Given the description of an element on the screen output the (x, y) to click on. 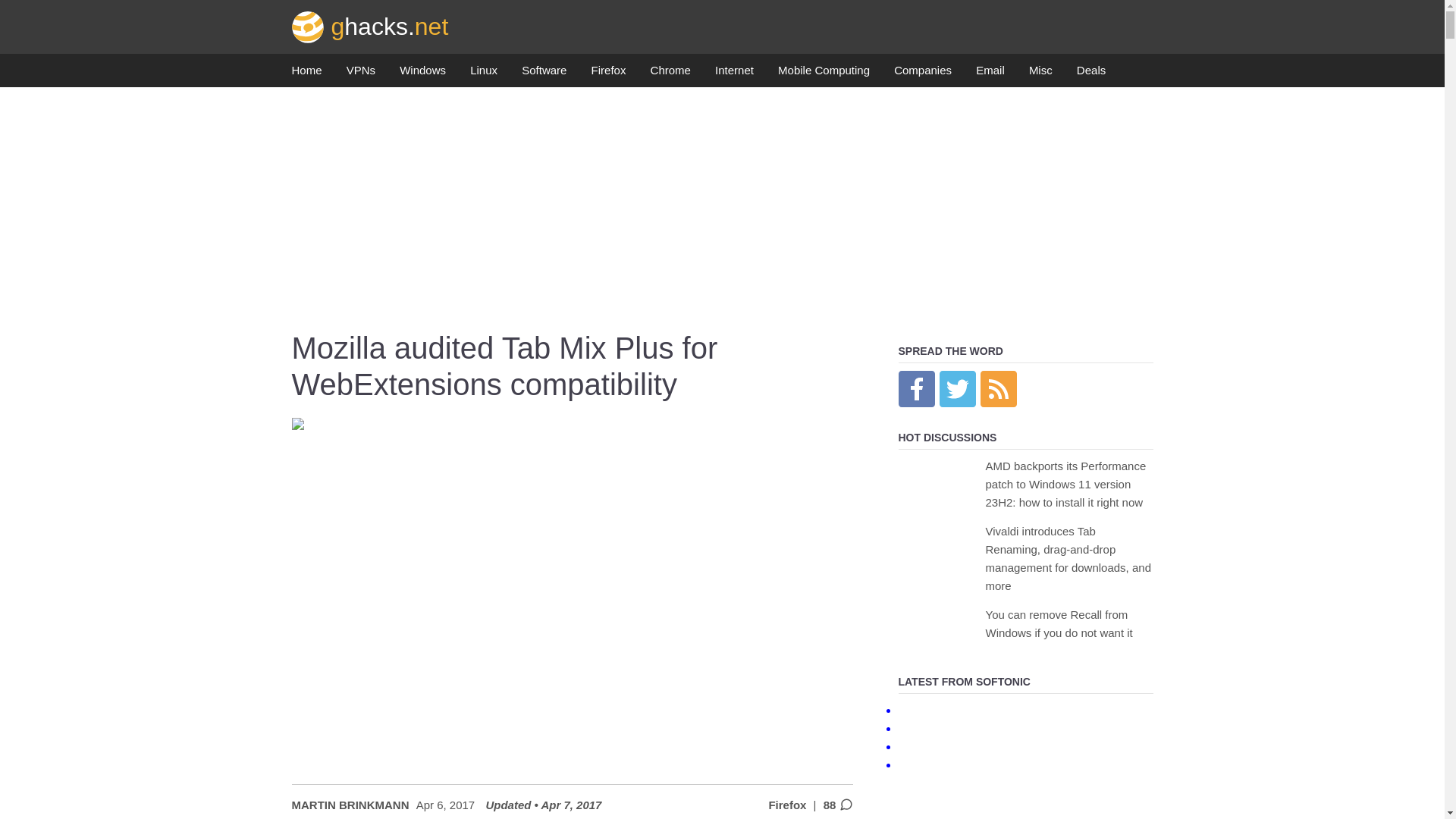
Windows (421, 73)
Linux (483, 73)
Deals (1091, 73)
Software (543, 73)
Misc (1040, 73)
Internet (734, 73)
Chrome (670, 73)
Mobile Computing (823, 73)
Email (989, 73)
ghacks.net (369, 26)
